Given the description of an element on the screen output the (x, y) to click on. 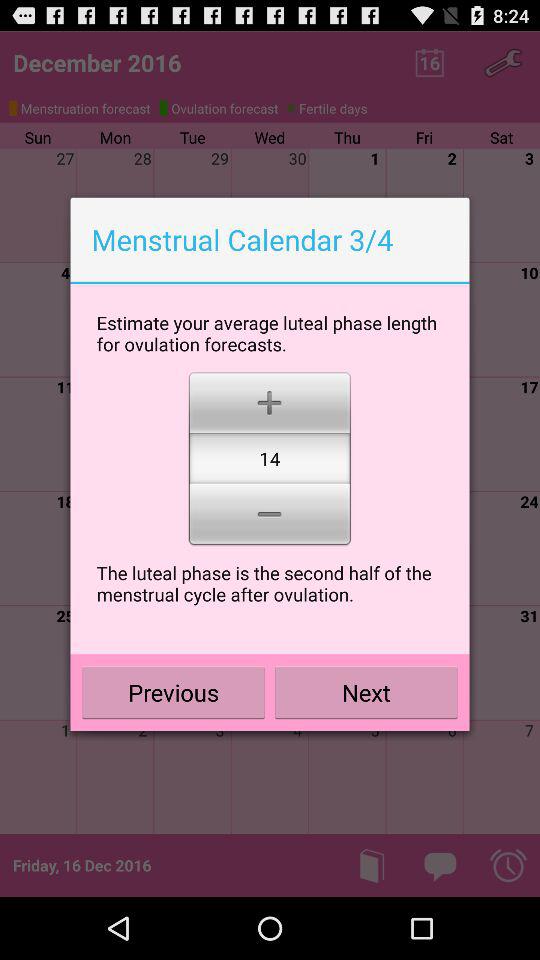
select next button (366, 692)
